Given the description of an element on the screen output the (x, y) to click on. 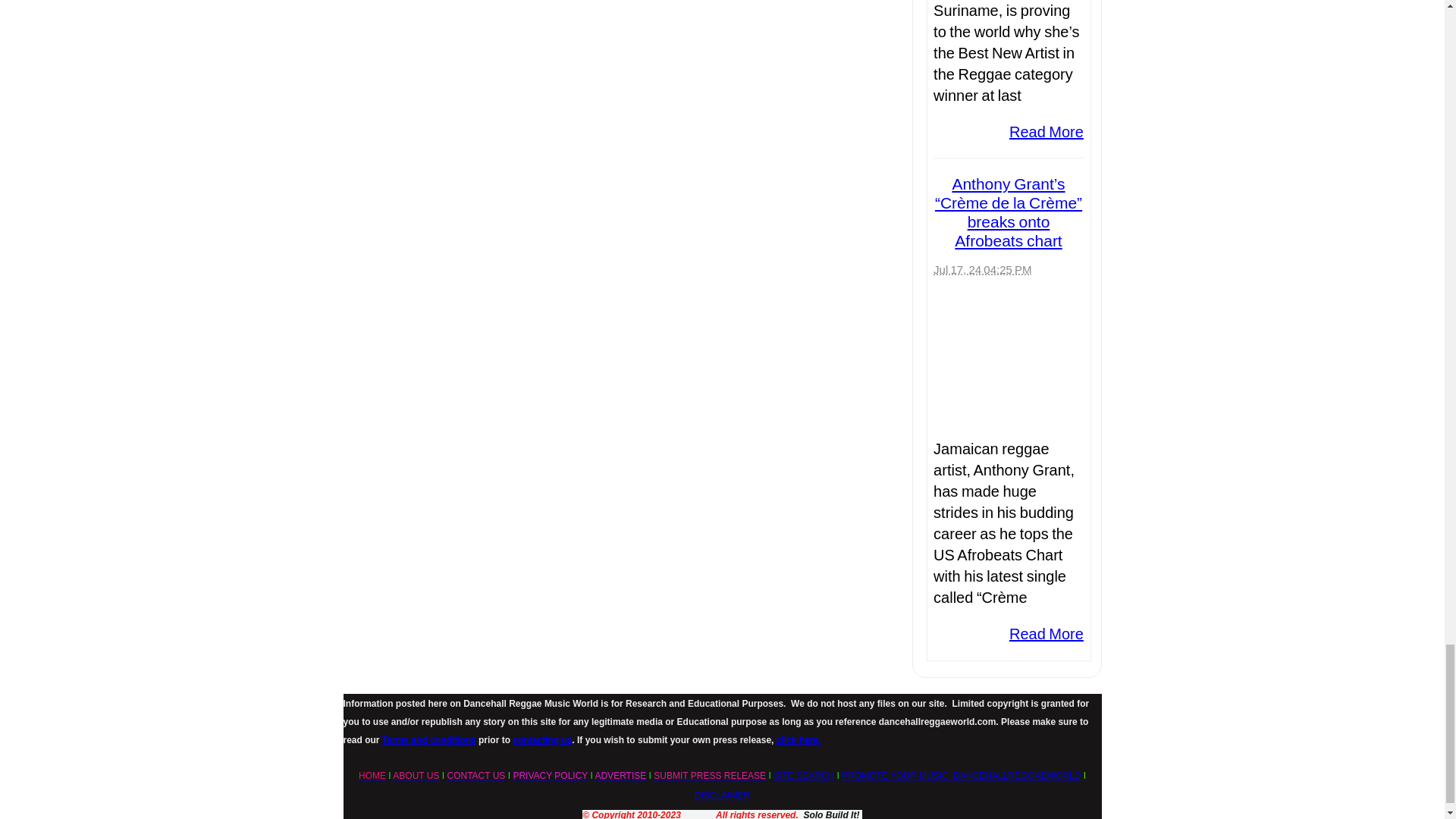
2024-07-17T16:25:32-0400 (981, 269)
